Given the description of an element on the screen output the (x, y) to click on. 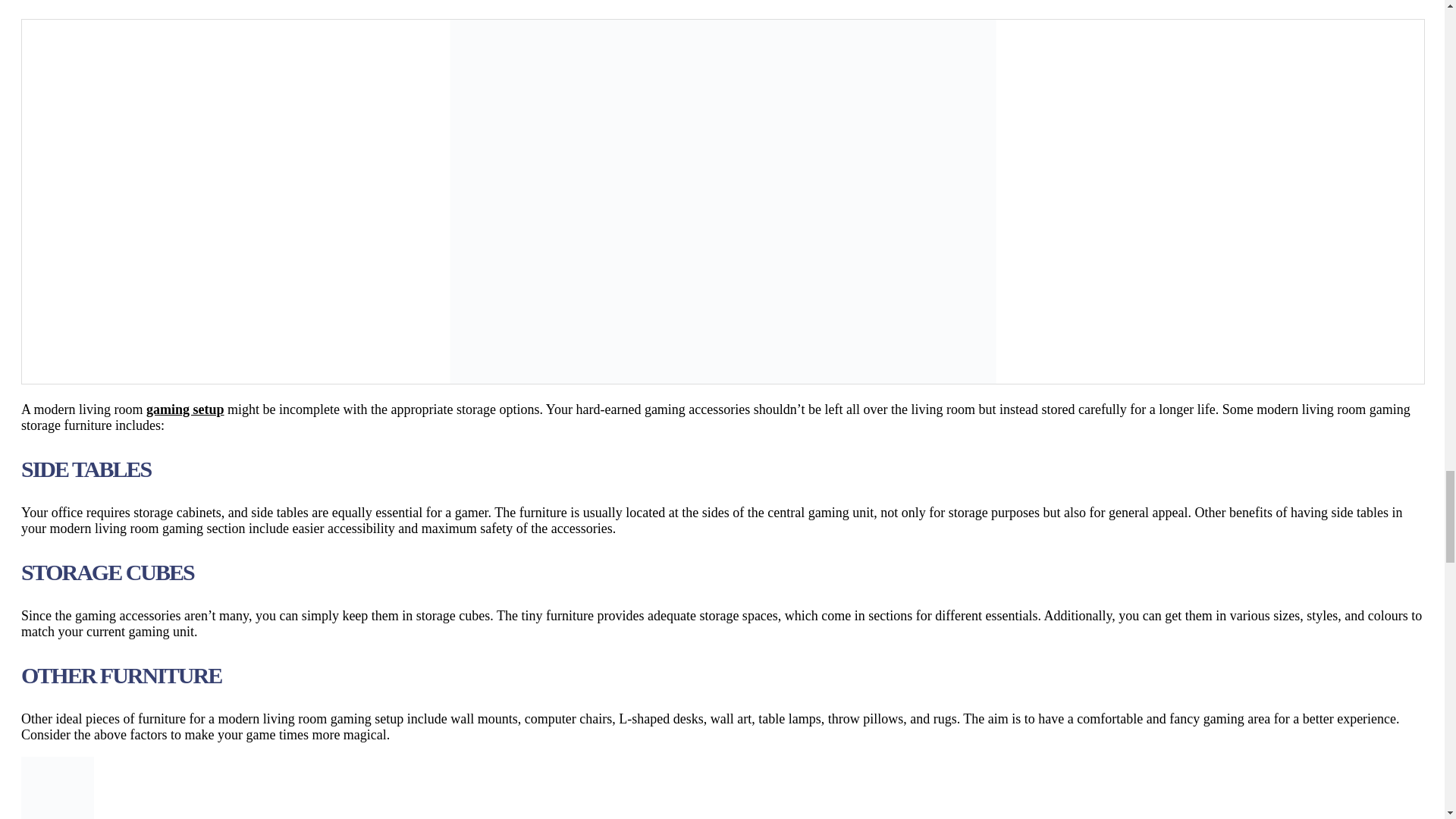
gaming setup (185, 409)
